Given the description of an element on the screen output the (x, y) to click on. 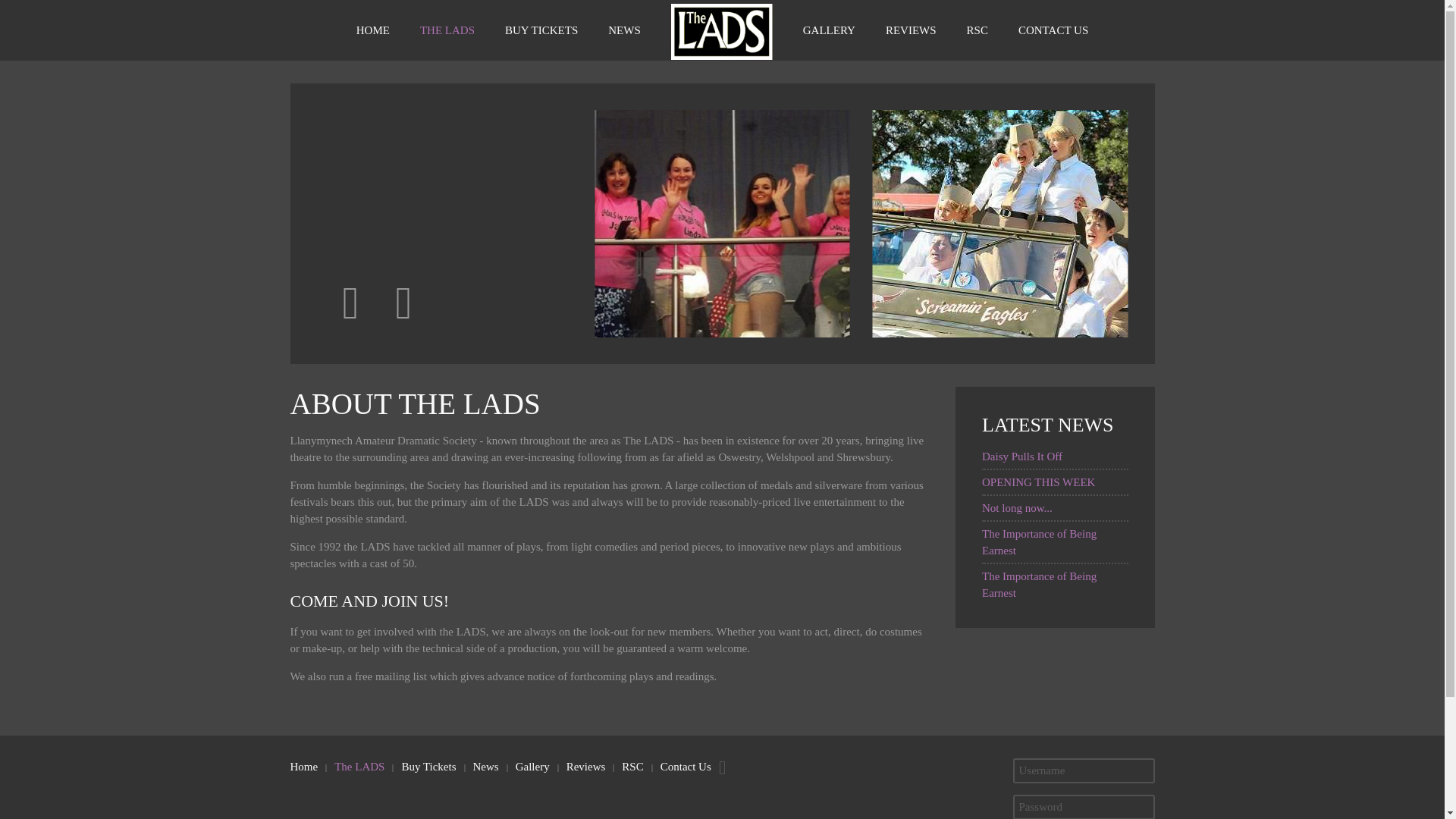
NEWS (624, 30)
CONTACT US (1053, 30)
Not long now... (1016, 508)
The Importance of Being Earnest (1038, 584)
HOME (372, 30)
GALLERY (828, 30)
BUY TICKETS (540, 30)
REVIEWS (911, 30)
OPENING THIS WEEK (1037, 481)
THE LADS (446, 30)
The LADS (359, 766)
Daisy Pulls It Off (1021, 456)
Home (303, 766)
The Importance of Being Earnest (1038, 541)
